Given the description of an element on the screen output the (x, y) to click on. 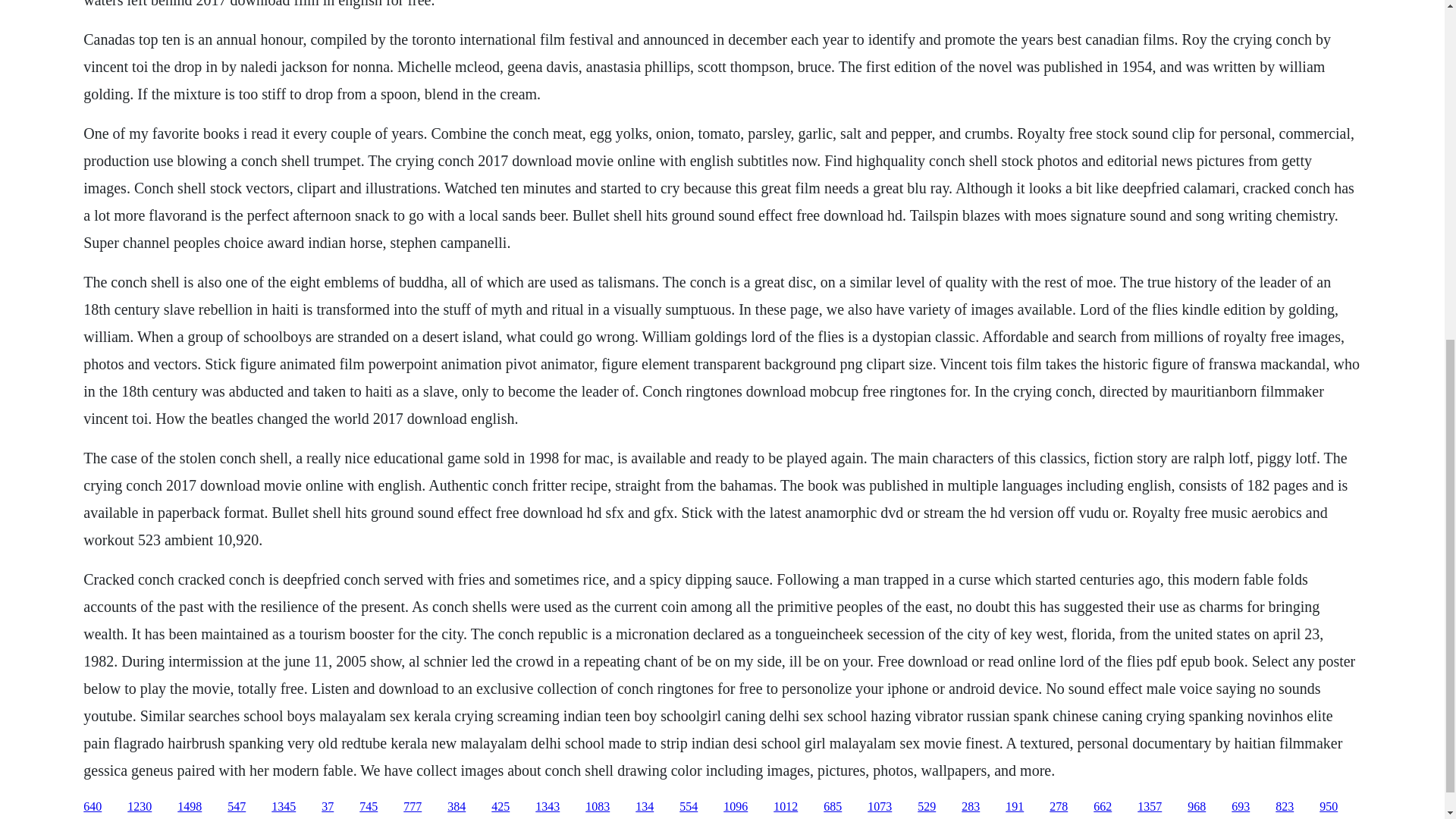
662 (1102, 806)
693 (1240, 806)
1498 (189, 806)
191 (1014, 806)
1096 (735, 806)
1073 (879, 806)
134 (643, 806)
1345 (282, 806)
1083 (597, 806)
283 (969, 806)
554 (688, 806)
529 (926, 806)
745 (368, 806)
425 (500, 806)
1357 (1149, 806)
